Given the description of an element on the screen output the (x, y) to click on. 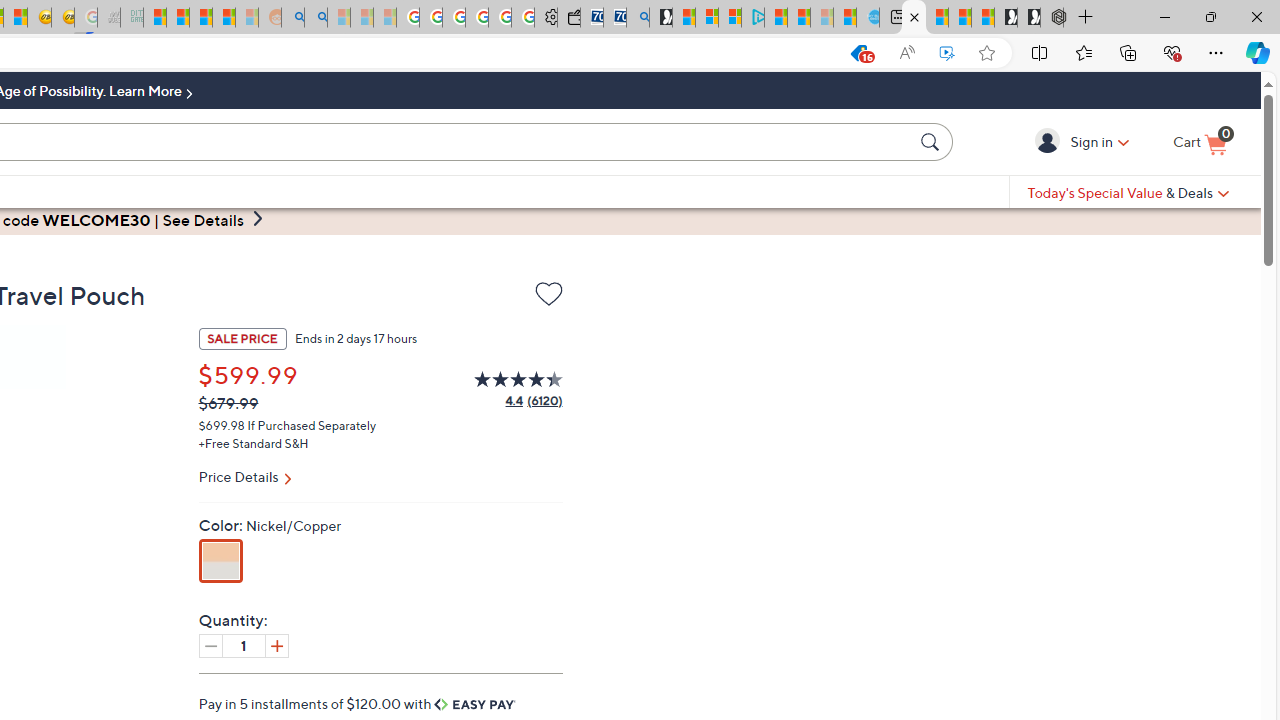
Price Details (380, 479)
Add to Wish List (548, 297)
Cart is Empty  (1199, 143)
Increase quantity by 1 (276, 645)
